Given the description of an element on the screen output the (x, y) to click on. 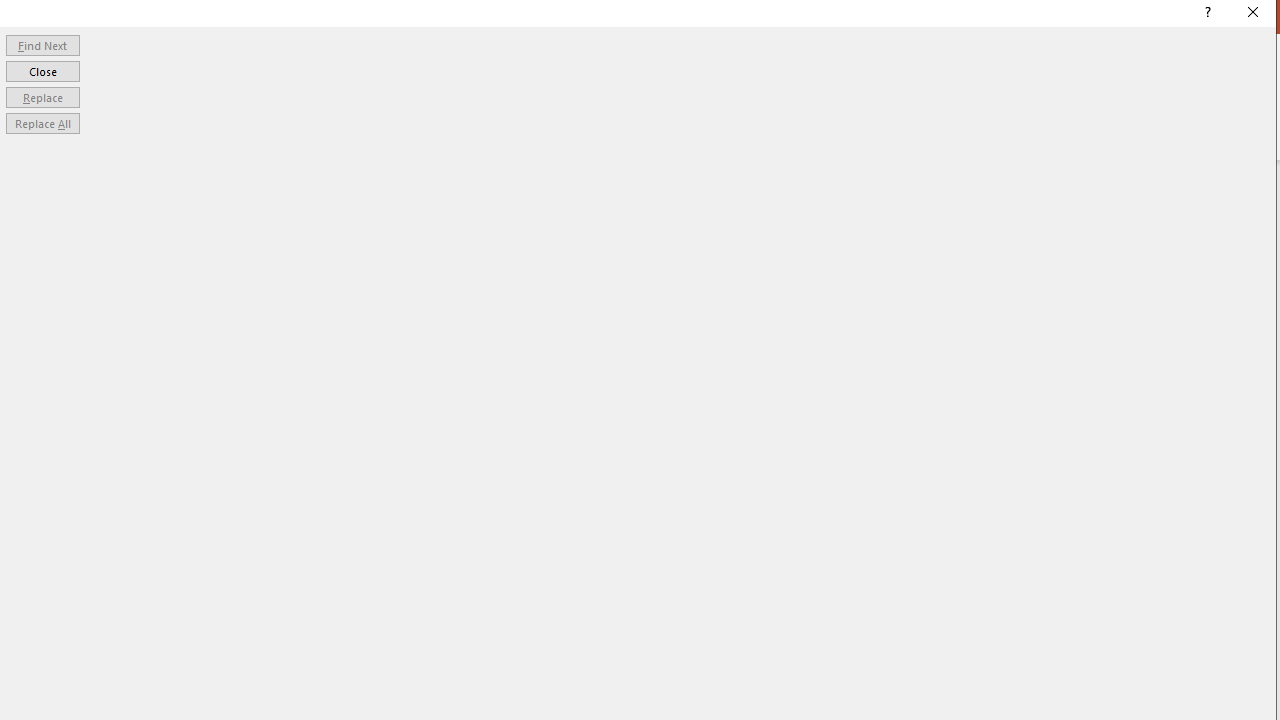
Find Next (42, 44)
Replace (42, 96)
Context help (1206, 14)
Replace All (42, 123)
